Given the description of an element on the screen output the (x, y) to click on. 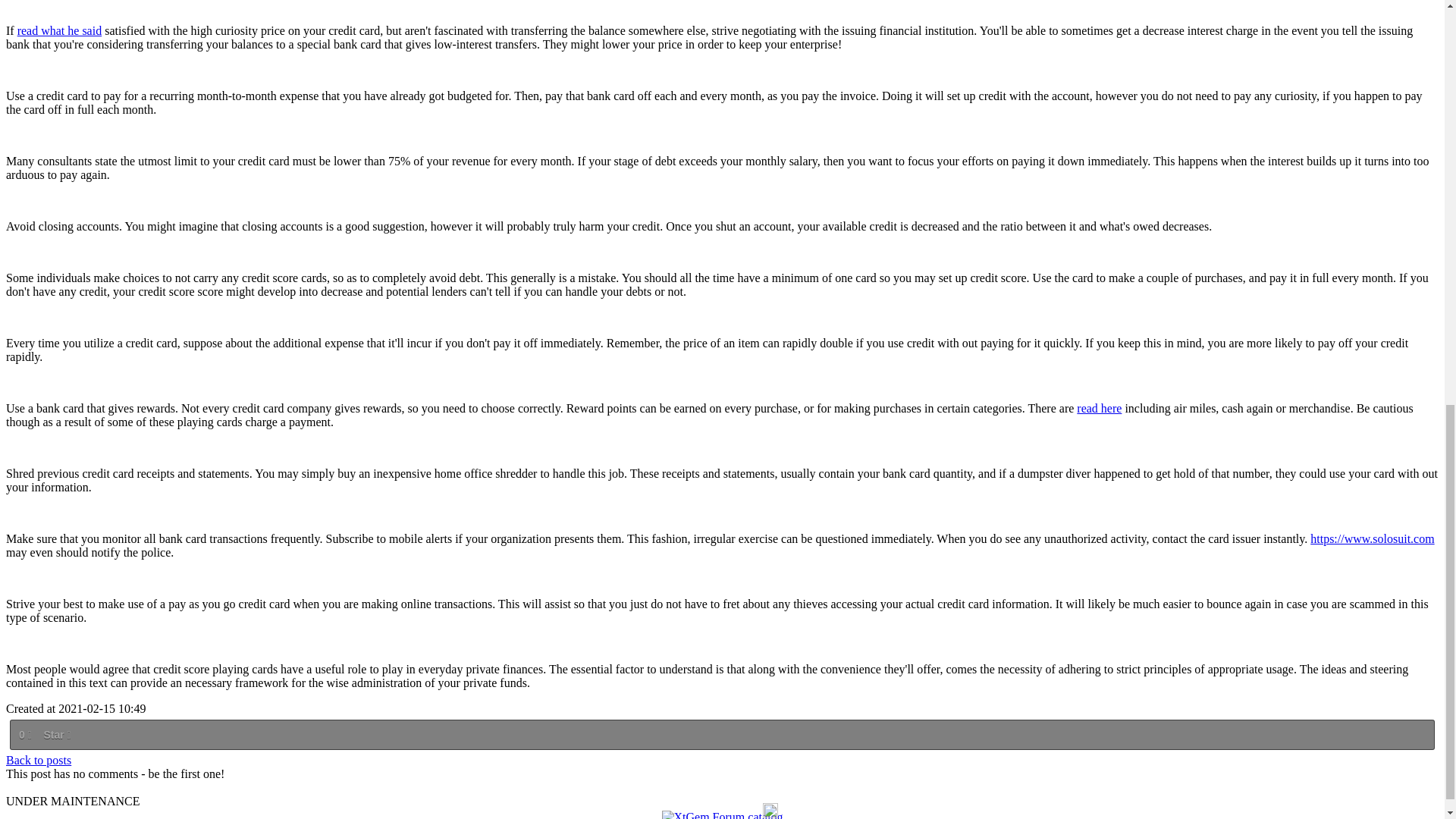
Back to posts (38, 759)
Star (56, 734)
0 (24, 734)
read here (1099, 408)
read what he said (59, 30)
